Given the description of an element on the screen output the (x, y) to click on. 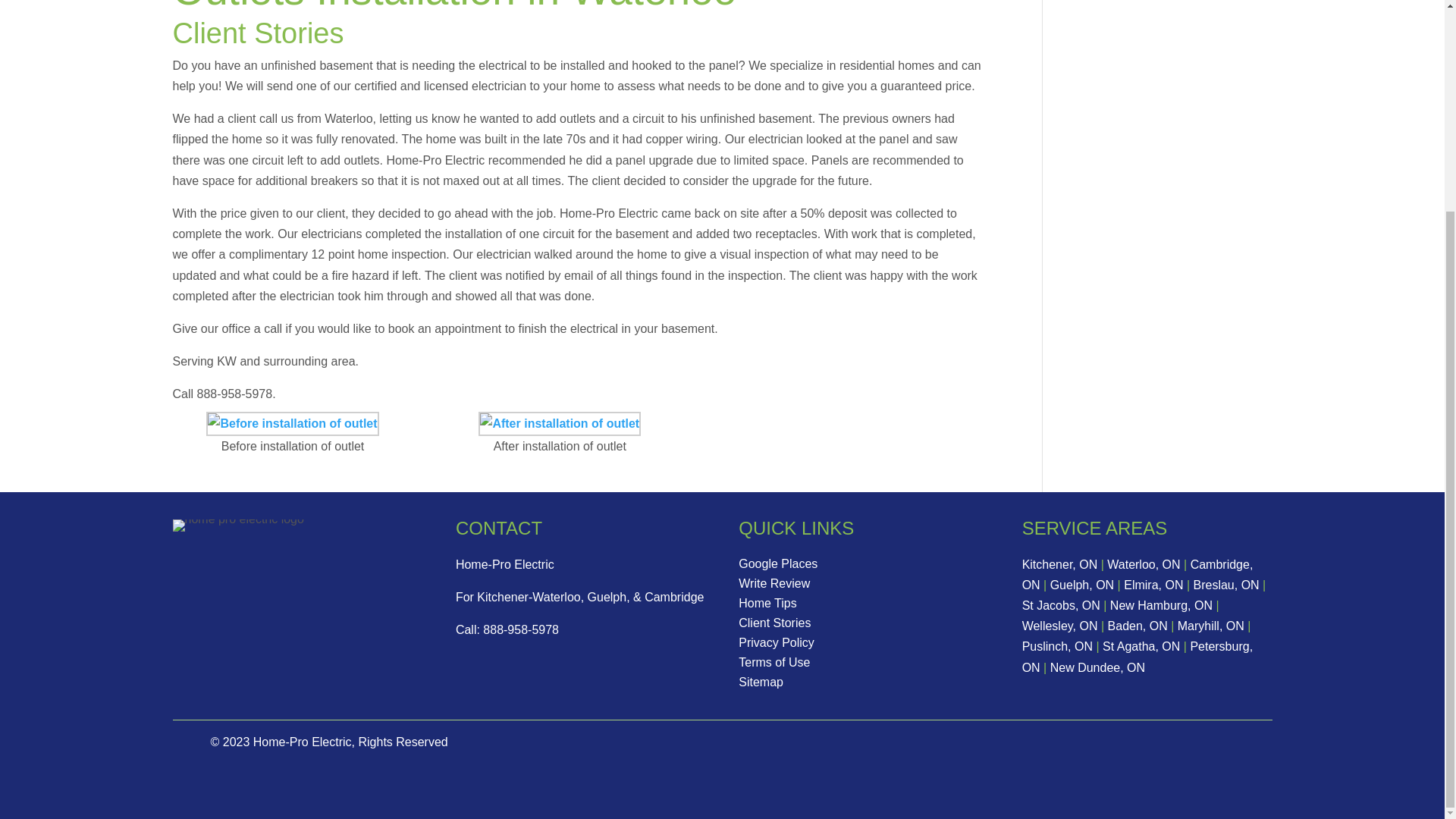
Google Places (777, 563)
888-958-5978 (521, 629)
Write Review (773, 583)
logo-w (238, 525)
